Given the description of an element on the screen output the (x, y) to click on. 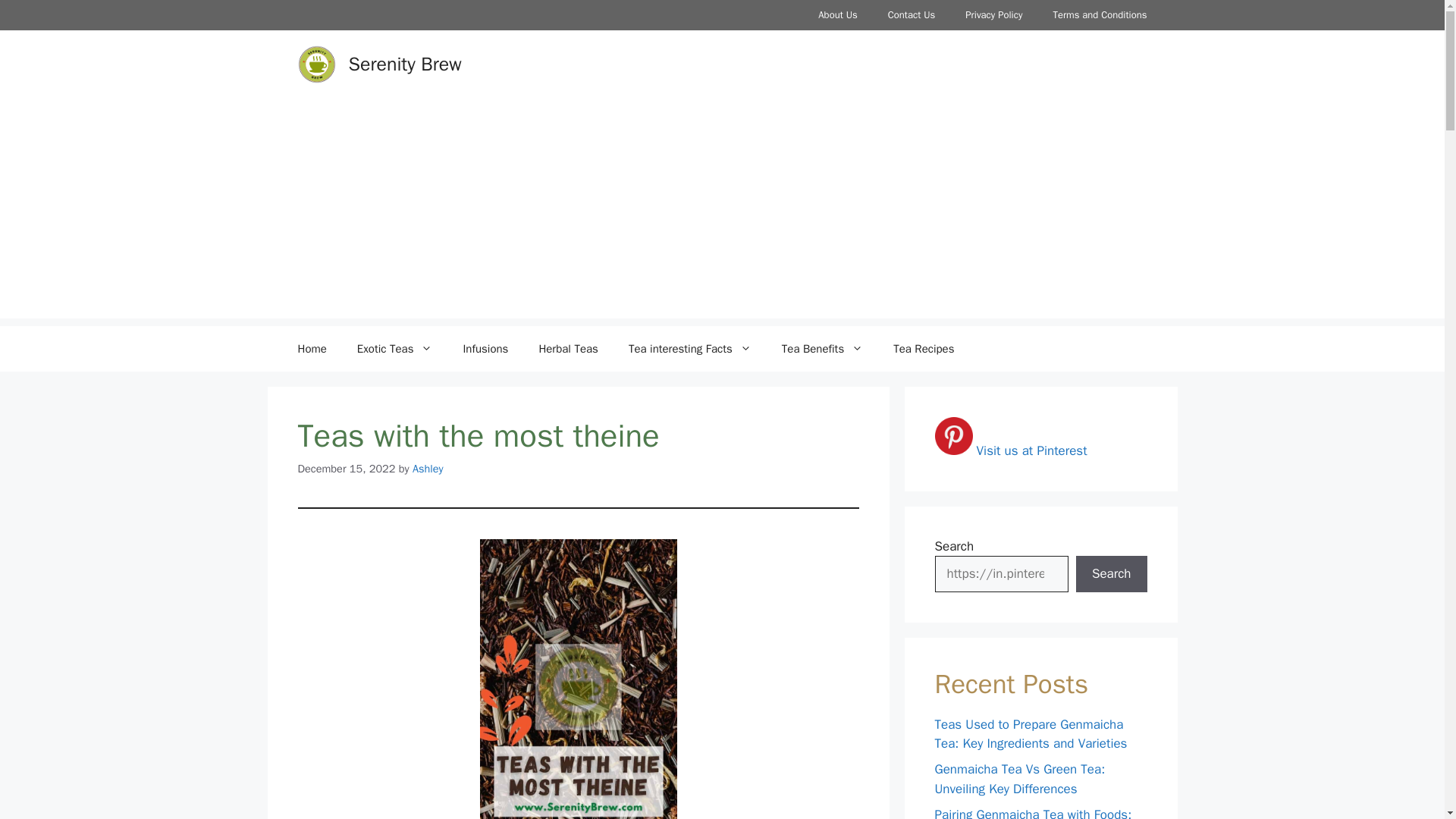
Tea interesting Facts (689, 348)
Exotic Teas (395, 348)
Home (311, 348)
Terms and Conditions (1098, 15)
Herbal Teas (567, 348)
Contact Us (911, 15)
Tea Recipes (923, 348)
About Us (837, 15)
Ashley (428, 468)
Privacy Policy (993, 15)
Serenity Brew (405, 64)
Tea Benefits (822, 348)
View all posts by Ashley (428, 468)
Infusions (484, 348)
